Given the description of an element on the screen output the (x, y) to click on. 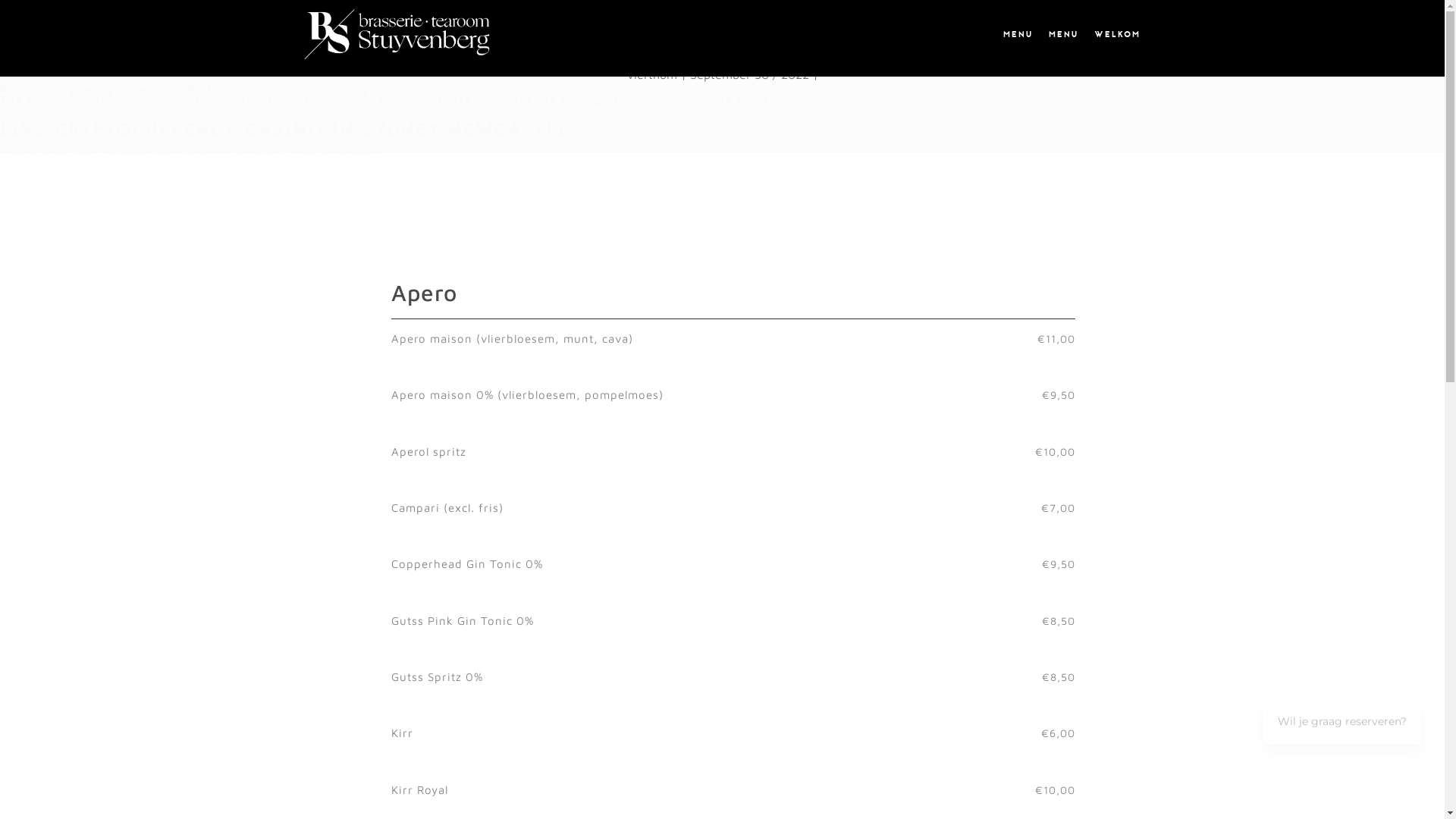
WELKOM Element type: text (1115, 33)
MENU Element type: text (1016, 33)
MENU Element type: text (1062, 33)
